Given the description of an element on the screen output the (x, y) to click on. 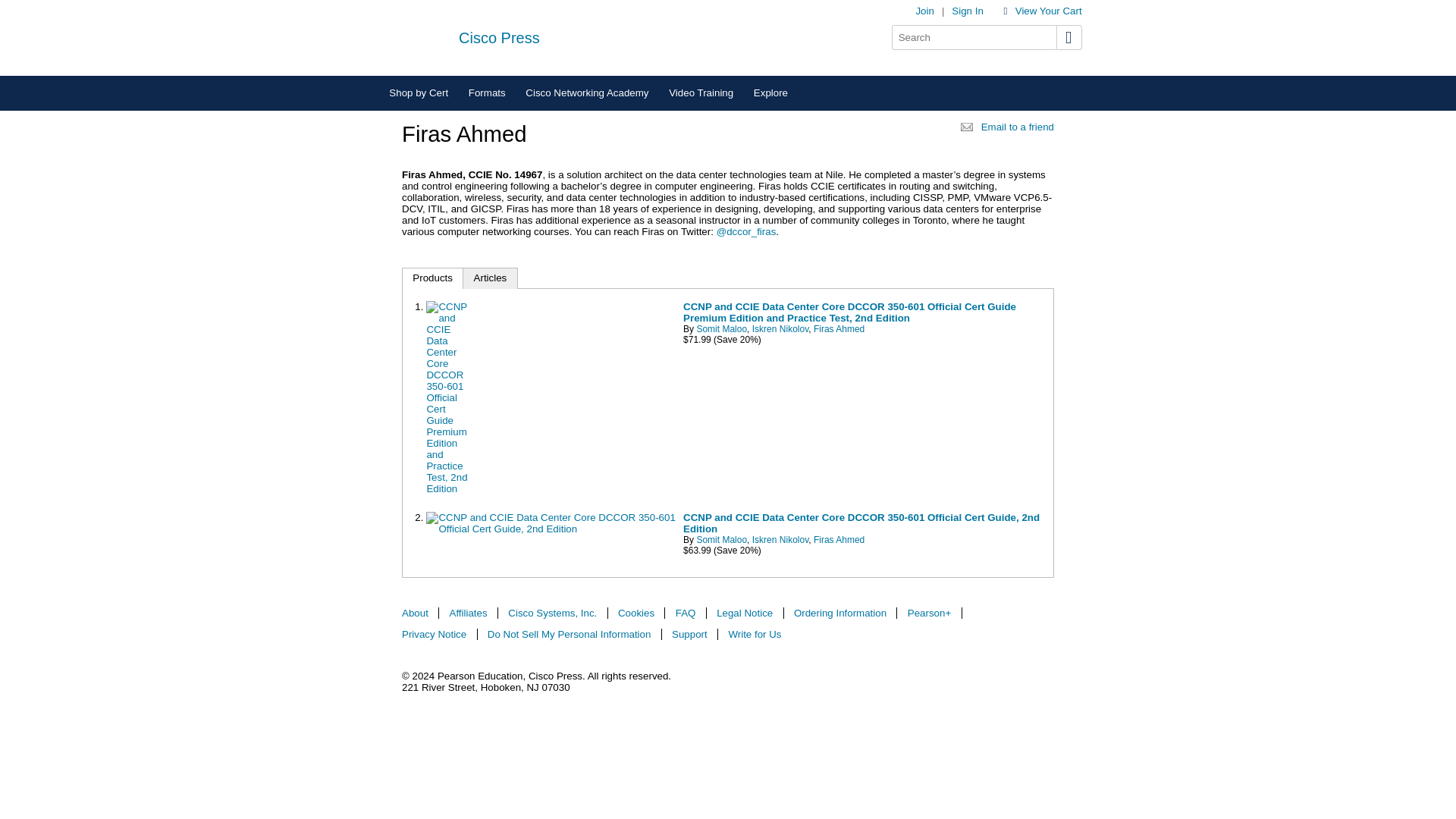
Cisco.com (413, 37)
Join (924, 10)
Formats (486, 92)
Shop by Cert (418, 92)
View Your Cart (1046, 10)
Video Training (701, 92)
Explore (769, 92)
Sign In (968, 10)
Cisco Networking Academy (587, 92)
